Given the description of an element on the screen output the (x, y) to click on. 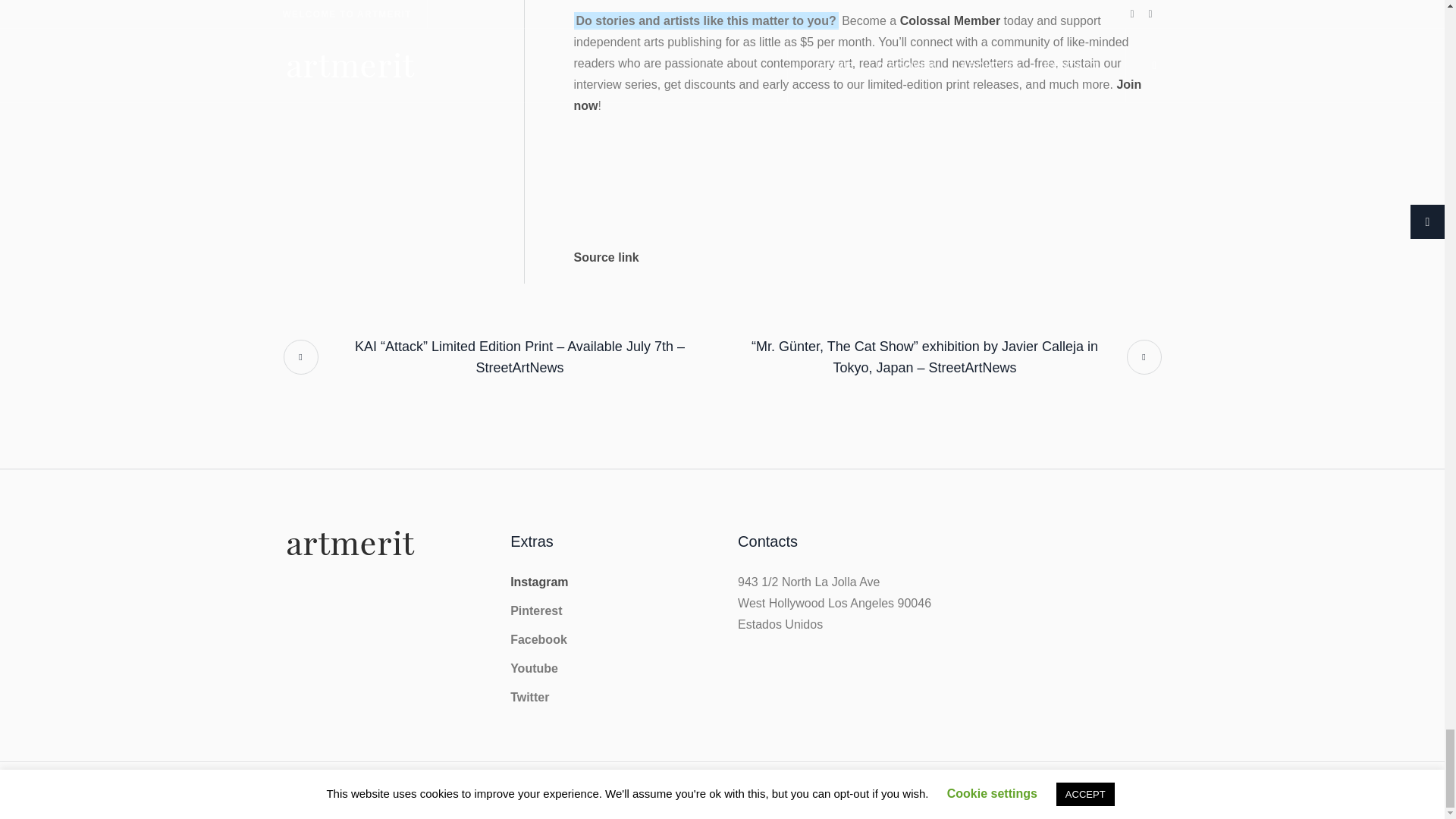
Join now (857, 94)
Colossal Member (949, 20)
